Given the description of an element on the screen output the (x, y) to click on. 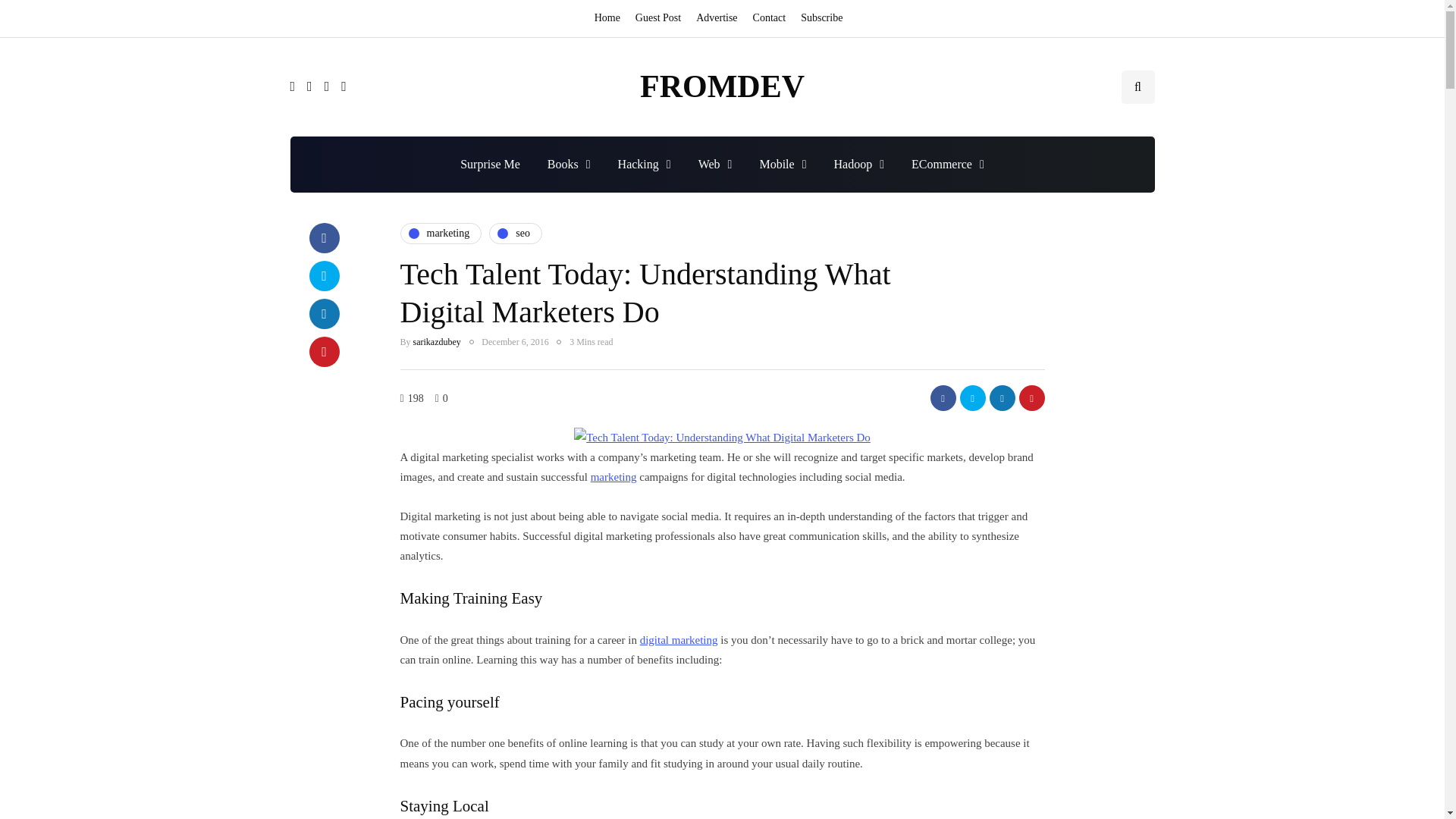
Advertise (716, 18)
Contact (769, 18)
Hacking (644, 163)
Subscribe (821, 18)
FROMDEV (722, 86)
Hadoop (858, 163)
Guest Post (657, 18)
Web (714, 163)
Surprise Me (490, 163)
Books (569, 163)
Mobile (782, 163)
Home (610, 18)
